Given the description of an element on the screen output the (x, y) to click on. 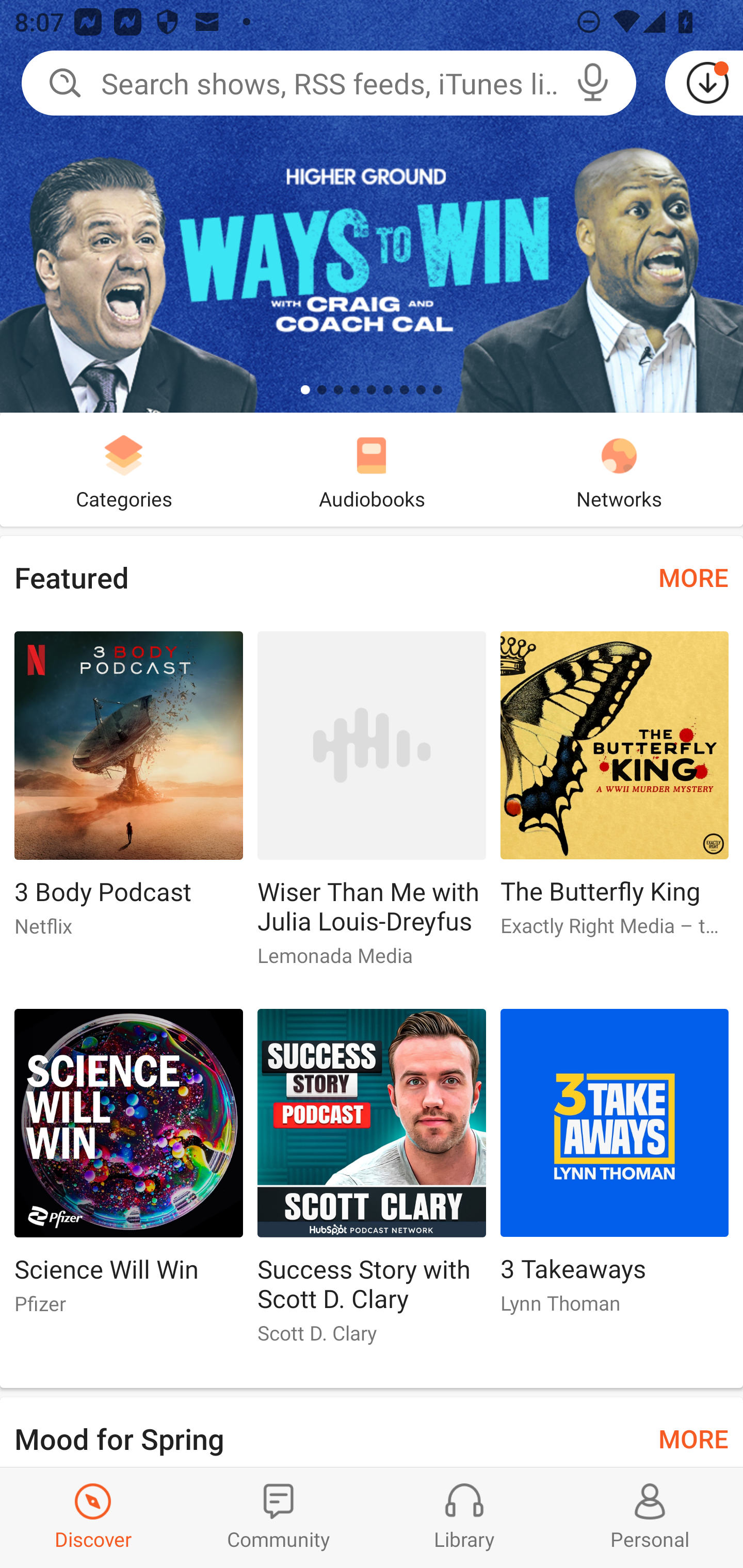
Ways To Win (371, 206)
Categories (123, 469)
Audiobooks (371, 469)
Networks (619, 469)
MORE (693, 576)
3 Body Podcast 3 Body Podcast Netflix (128, 792)
Science Will Win Science Will Win Pfizer (128, 1169)
3 Takeaways 3 Takeaways Lynn Thoman (614, 1169)
MORE (693, 1436)
Discover (92, 1517)
Community (278, 1517)
Library (464, 1517)
Profiles and Settings Personal (650, 1517)
